Given the description of an element on the screen output the (x, y) to click on. 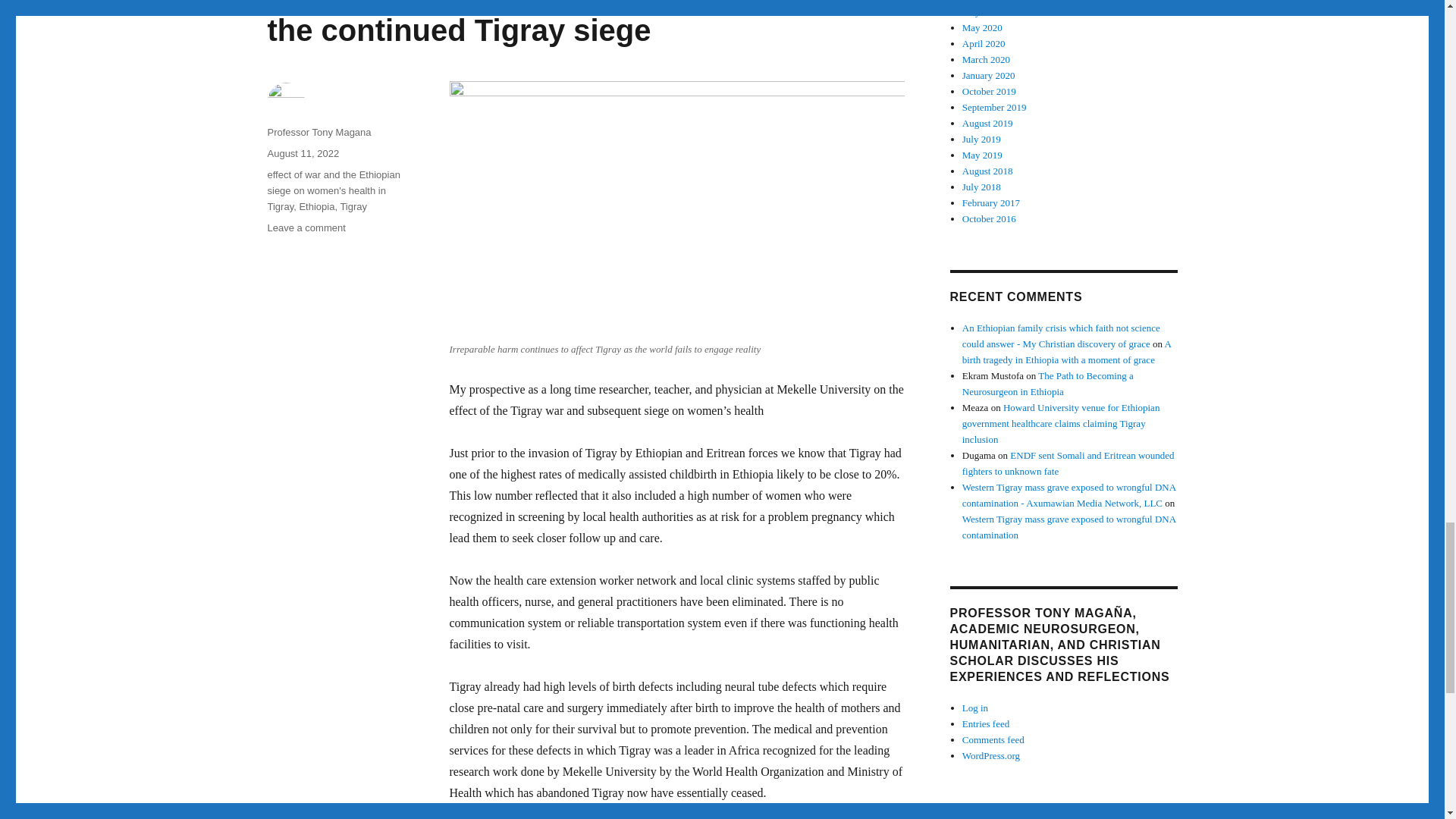
Professor Tony Magana (318, 132)
August 11, 2022 (302, 153)
Ethiopia (316, 206)
Tigray (352, 206)
